Given the description of an element on the screen output the (x, y) to click on. 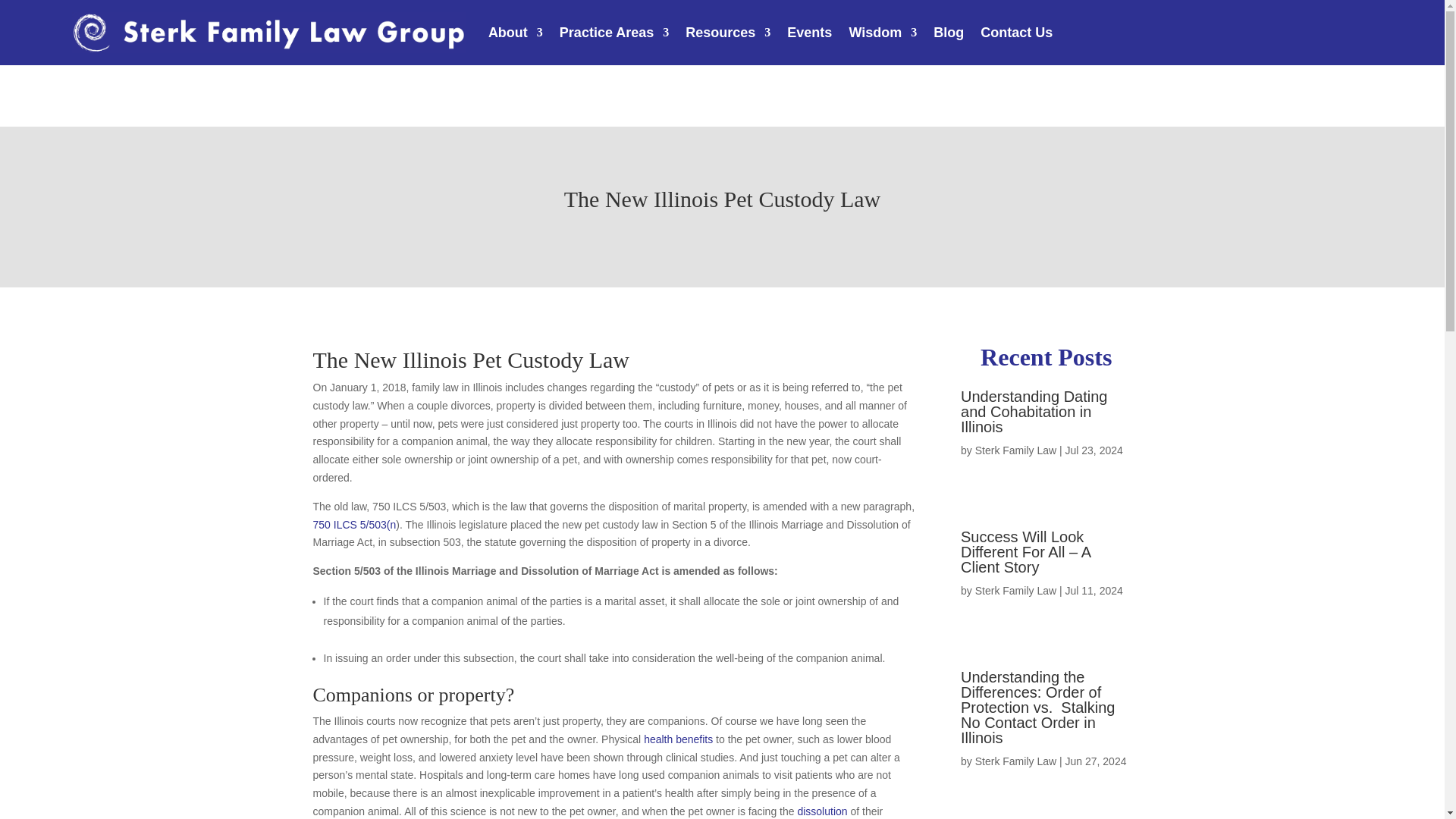
Posts by Sterk Family Law (1016, 761)
Wisdom (882, 32)
Contact Us (1015, 32)
Resources (727, 32)
Practice Areas (613, 32)
Posts by Sterk Family Law (1016, 450)
Posts by Sterk Family Law (1016, 590)
About (515, 32)
